Given the description of an element on the screen output the (x, y) to click on. 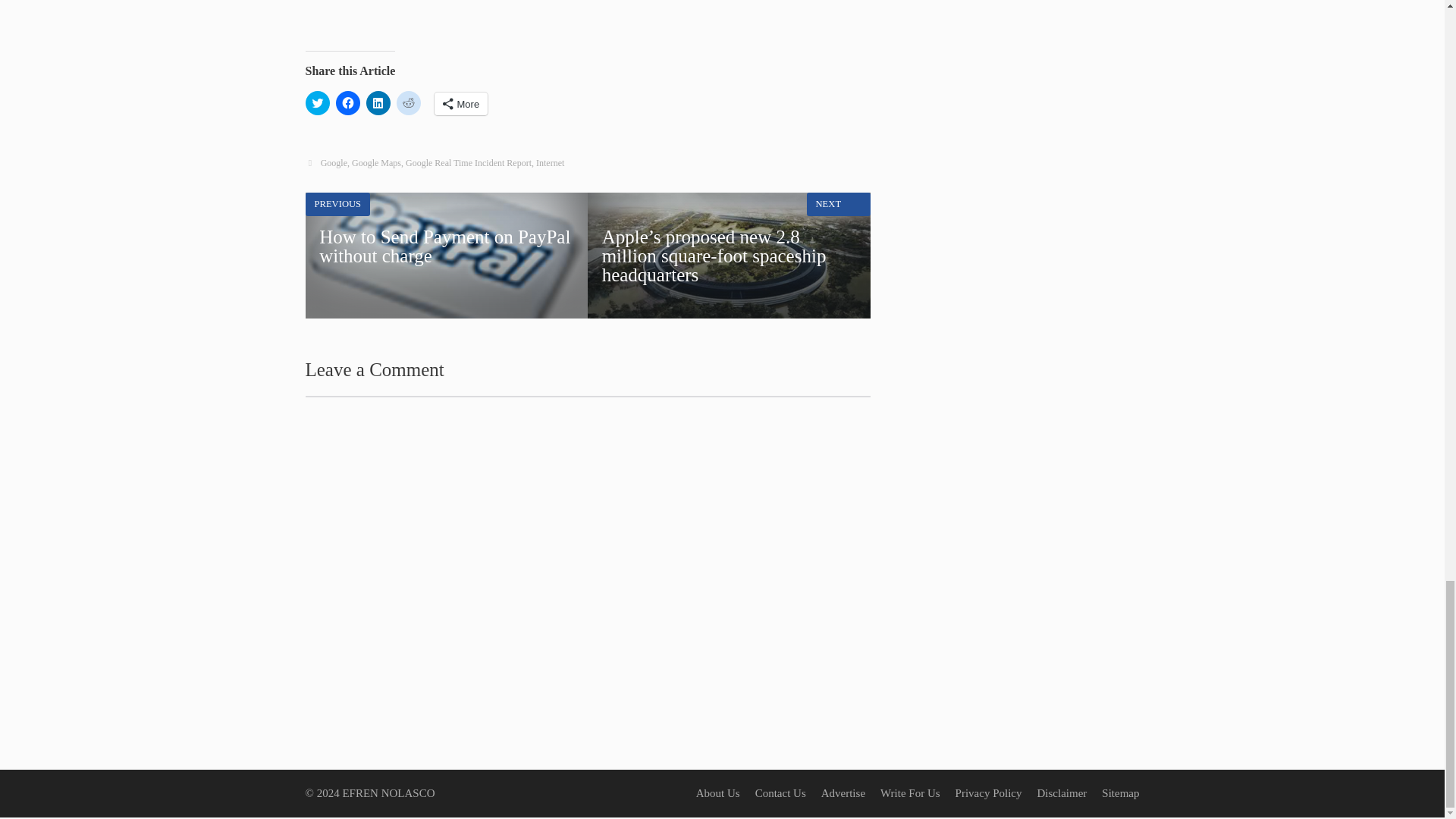
Google Maps (376, 163)
Internet (549, 163)
Click to share on LinkedIn (377, 102)
More (460, 103)
Click to share on Reddit (408, 102)
Google (333, 163)
Click to share on Twitter (446, 255)
Google Real Time Incident Report (316, 102)
Advertisement (468, 163)
Click to share on Facebook (532, 18)
